Given the description of an element on the screen output the (x, y) to click on. 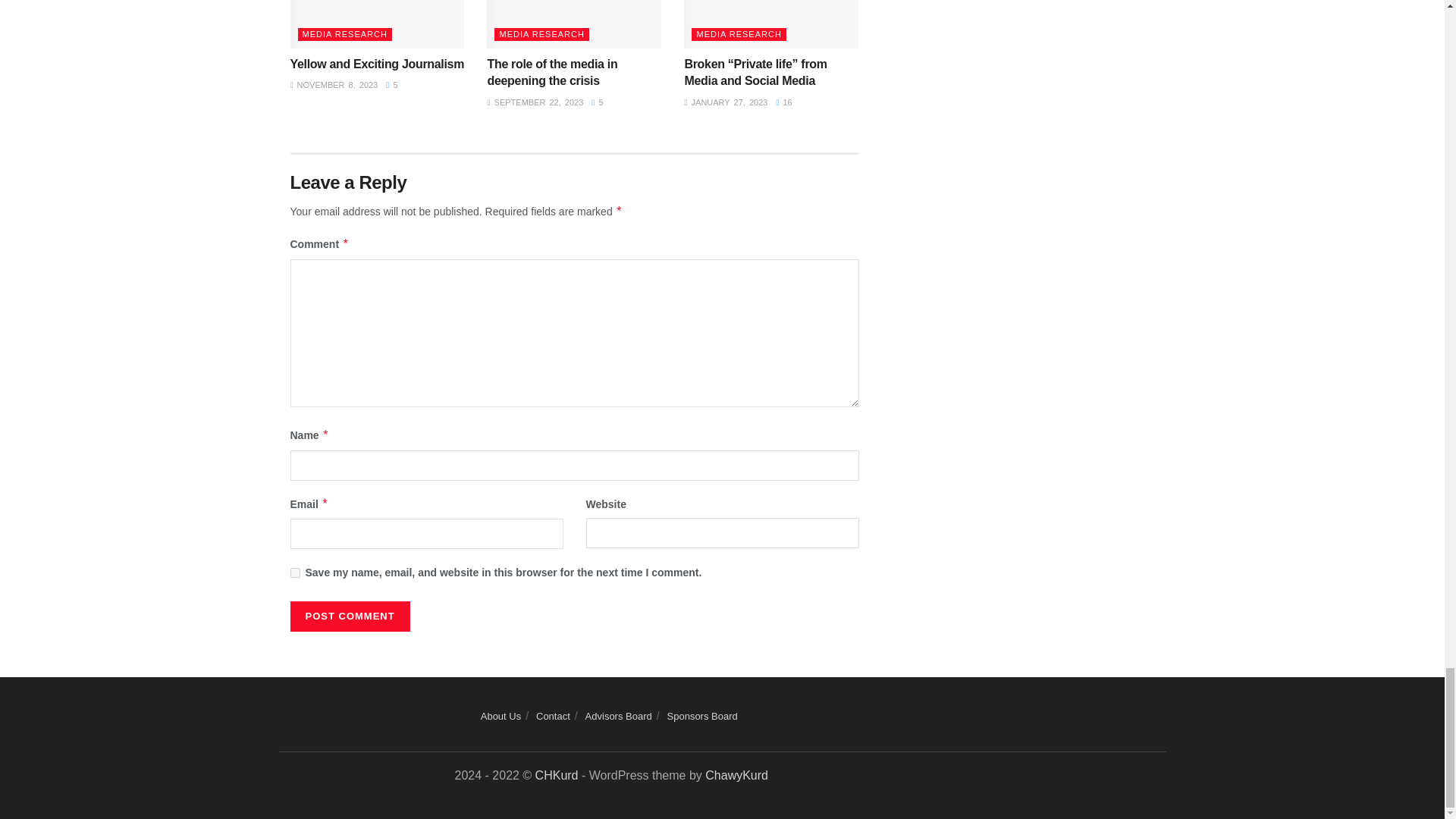
 WordPress theme  (556, 775)
Post Comment (349, 616)
yes (294, 573)
ChawyKurd (736, 775)
